Given the description of an element on the screen output the (x, y) to click on. 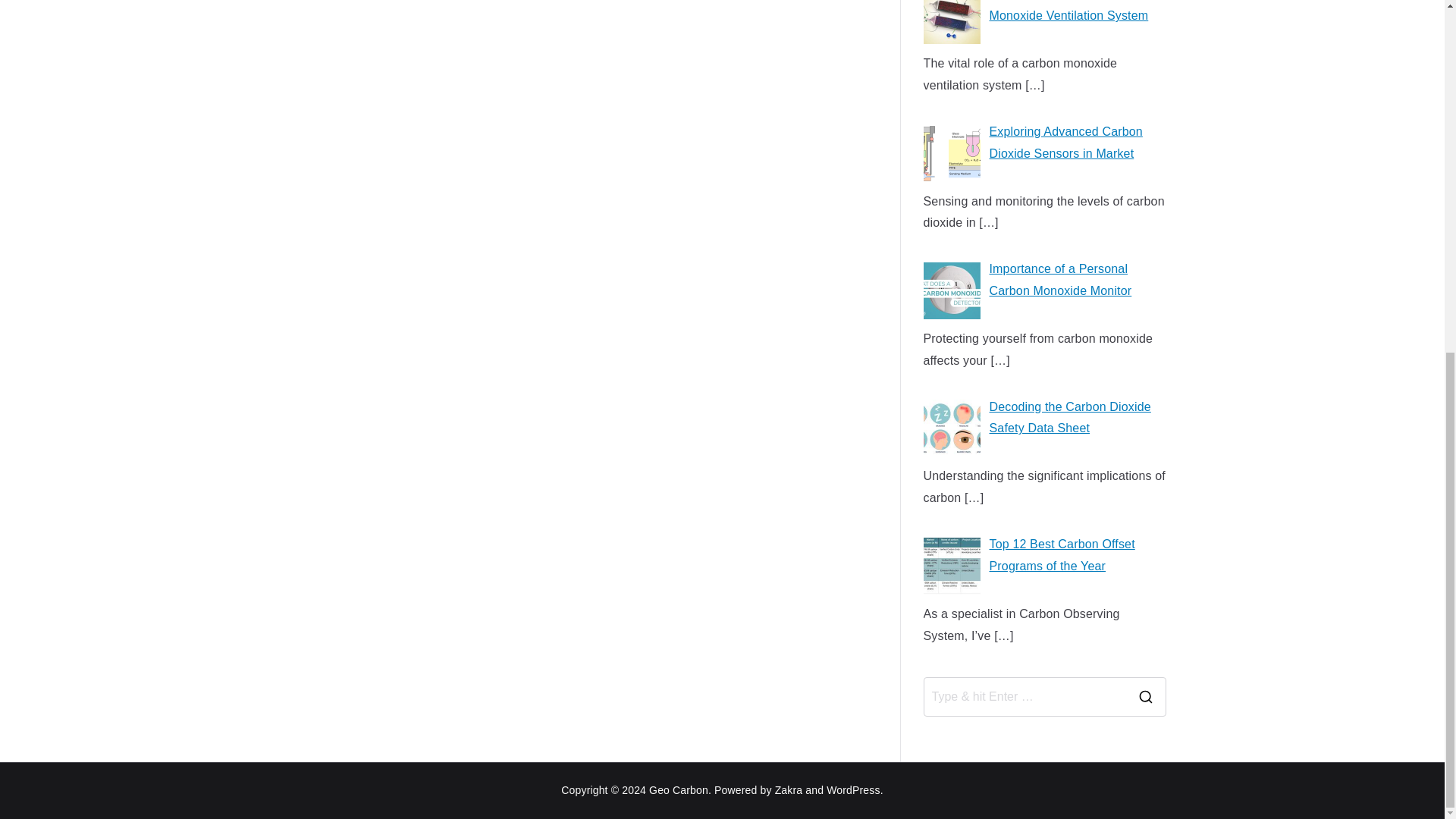
Exploring Advanced Carbon Dioxide Sensors in Market (1044, 155)
Decoding the Carbon Dioxide Safety Data Sheet (1044, 431)
Search for: (1024, 696)
WordPress (853, 789)
Efficiency of a Carbon Monoxide Ventilation System (1044, 26)
Geo Carbon (678, 789)
WordPress (853, 789)
Geo Carbon (678, 789)
Top 12 Best Carbon Offset Programs of the Year (1044, 568)
Zakra (788, 789)
Importance of a Personal Carbon Monoxide Monitor (1044, 293)
Zakra (788, 789)
